Given the description of an element on the screen output the (x, y) to click on. 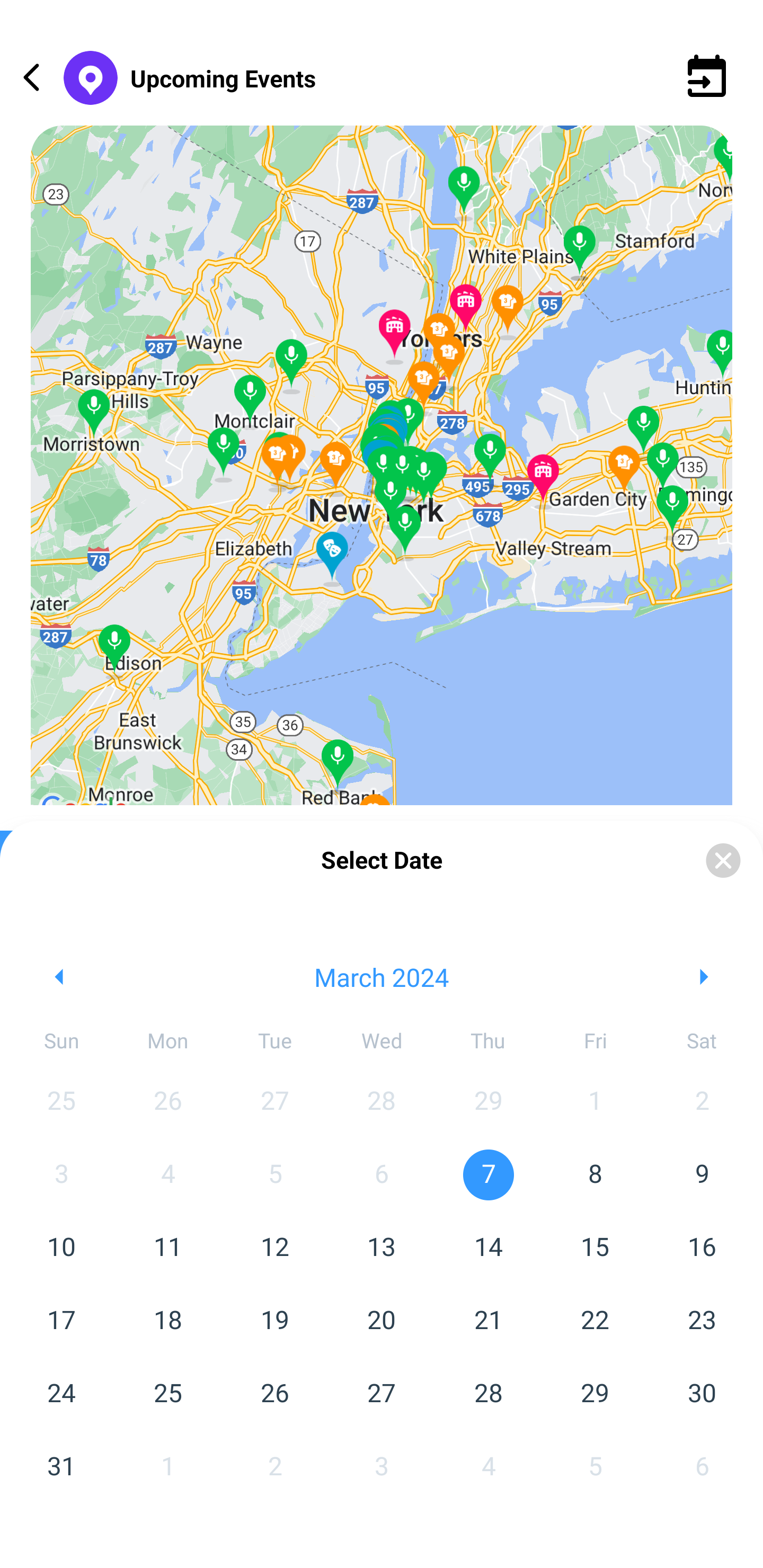
 Sunday 25 February 2024  25 (60, 1101)
 Monday 26 February 2024  26 (167, 1101)
 Tuesday 27 February 2024  27 (274, 1101)
 Wednesday 28 February 2024  28 (381, 1101)
 Thursday 29 February 2024  29 (488, 1101)
 Friday 1 March 2024  1 (594, 1101)
 Saturday 2 March 2024  2 (701, 1101)
 Sunday 3 March 2024  3 (60, 1175)
 Monday 4 March 2024  4 (167, 1175)
 Tuesday 5 March 2024  5 (274, 1175)
 Wednesday 6 March 2024  6 (381, 1175)
 Friday 8 March 2024  8 (594, 1175)
 Saturday 9 March 2024  9 (701, 1175)
 Sunday 10 March 2024  10 (60, 1248)
 Monday 11 March 2024  11 (167, 1248)
 Tuesday 12 March 2024  12 (274, 1248)
 Wednesday 13 March 2024  13 (381, 1248)
 Thursday 14 March 2024  14 (488, 1248)
 Friday 15 March 2024  15 (594, 1248)
 Saturday 16 March 2024  16 (701, 1248)
 Sunday 17 March 2024  17 (60, 1320)
 Monday 18 March 2024  18 (167, 1320)
 Tuesday 19 March 2024  19 (274, 1320)
 Wednesday 20 March 2024  20 (381, 1320)
 Thursday 21 March 2024  21 (488, 1320)
 Friday 22 March 2024  22 (594, 1320)
 Saturday 23 March 2024  23 (701, 1320)
 Sunday 24 March 2024  24 (60, 1393)
 Monday 25 March 2024  25 (167, 1393)
 Tuesday 26 March 2024  26 (274, 1393)
 Wednesday 27 March 2024  27 (381, 1393)
 Thursday 28 March 2024  28 (488, 1393)
 Friday 29 March 2024  29 (594, 1393)
 Saturday 30 March 2024  30 (701, 1393)
 Sunday 31 March 2024  31 (60, 1467)
 Monday 1 April 2024  1 (167, 1467)
 Tuesday 2 April 2024  2 (274, 1467)
 Wednesday 3 April 2024  3 (381, 1467)
 Thursday 4 April 2024  4 (488, 1467)
 Friday 5 April 2024  5 (594, 1467)
 Saturday 6 April 2024  6 (701, 1467)
